Given the description of an element on the screen output the (x, y) to click on. 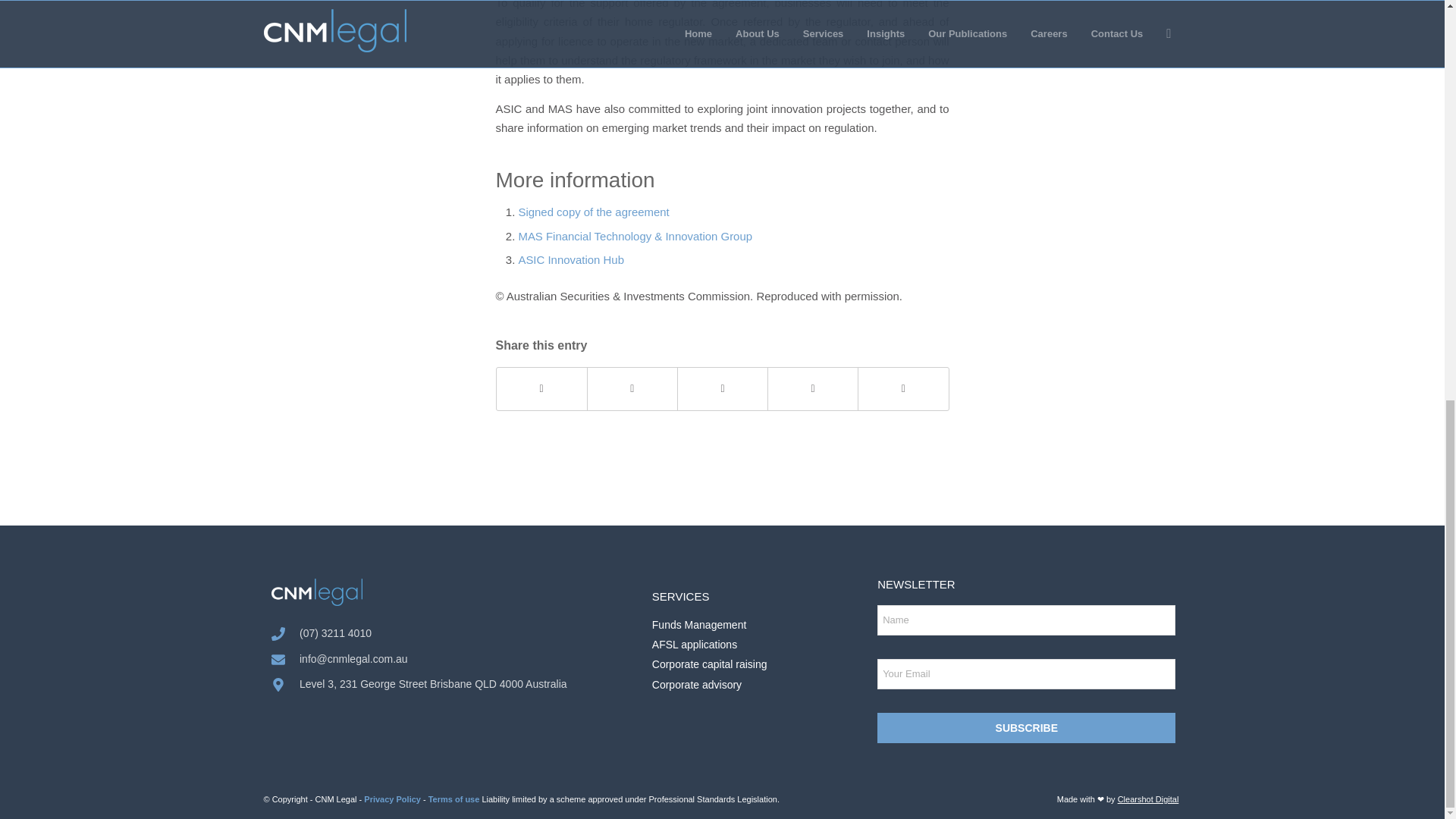
Corporate capital raising (760, 664)
Terms of use (454, 798)
Terms of use (454, 798)
Privacy Policy (392, 798)
ASIC Innovation Hub (571, 259)
AFSL applications (760, 644)
Funds Management (760, 625)
Corporate advisory (760, 684)
Clearshot Digital (1148, 798)
SUBSCRIBE (1025, 727)
